Given the description of an element on the screen output the (x, y) to click on. 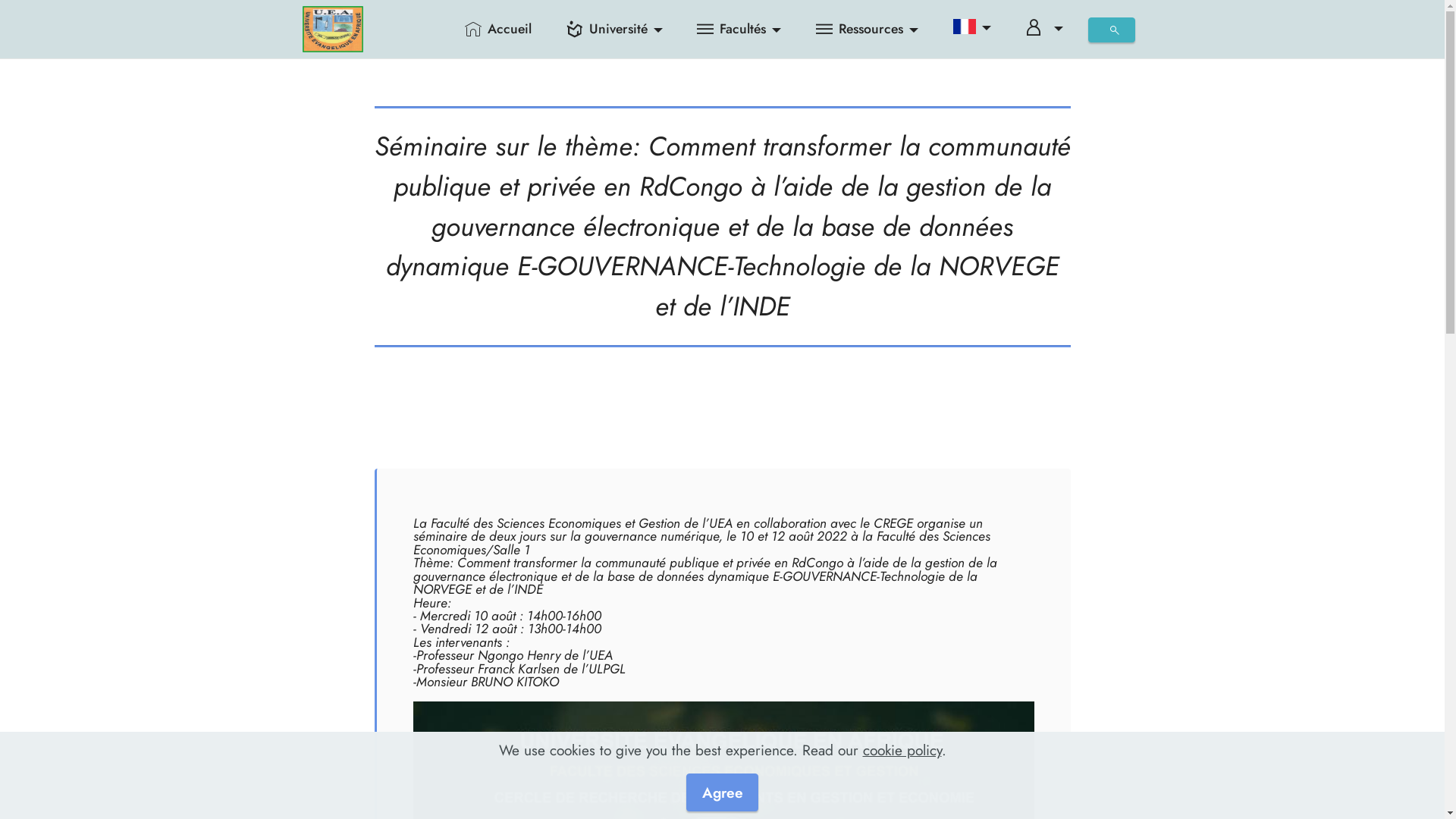
Ressources Element type: text (867, 28)
cookie policy Element type: text (901, 749)
Agree Element type: text (721, 792)
Accueil Element type: text (498, 28)
